Given the description of an element on the screen output the (x, y) to click on. 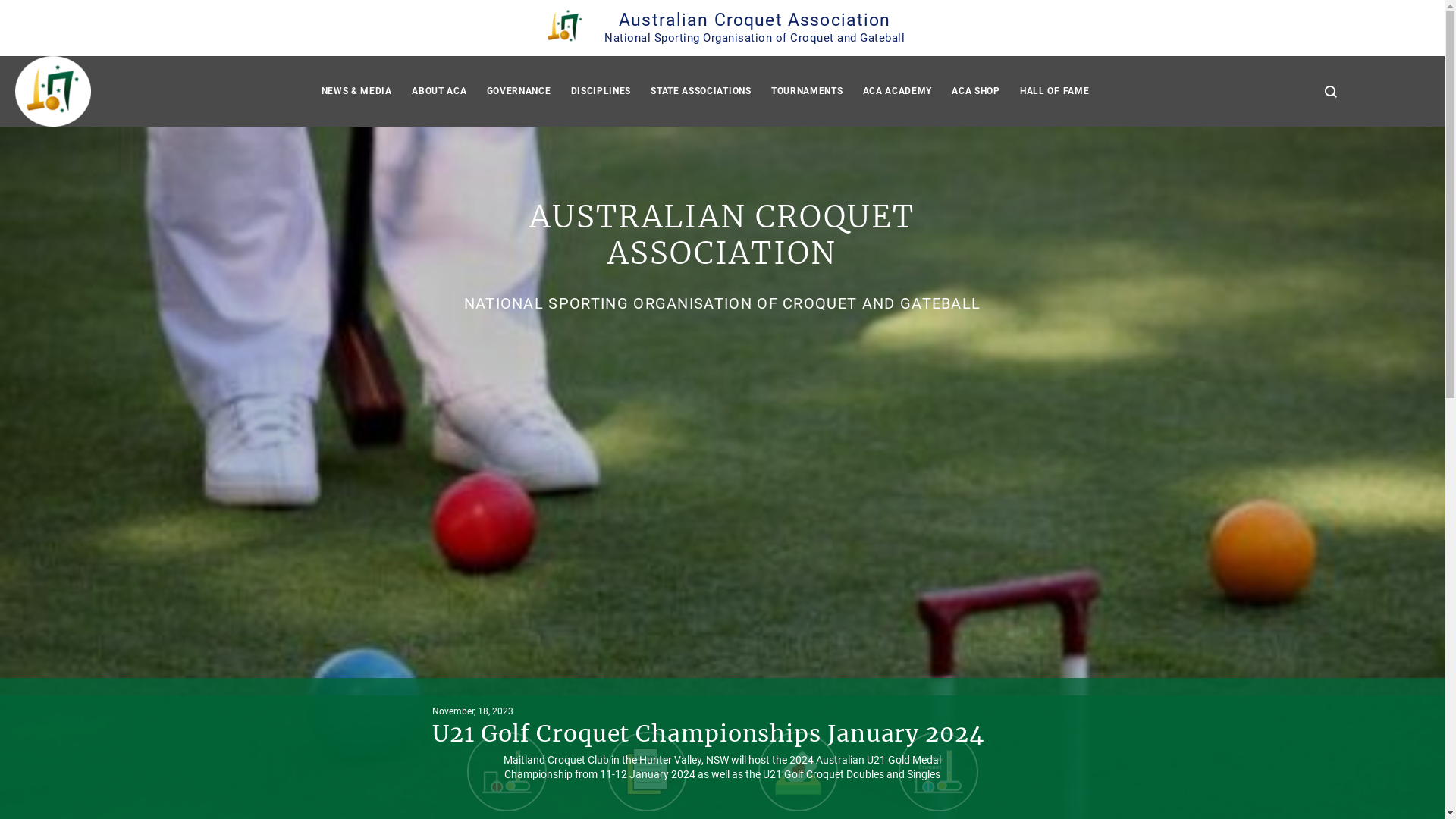
DISCIPLINES Element type: text (601, 91)
Search Element type: hover (1330, 91)
Australian Croquet Association Element type: hover (53, 90)
HALL OF FAME Element type: text (1054, 91)
ACA ACADEMY Element type: text (896, 91)
GOVERNANCE Element type: text (517, 91)
ACA SHOP Element type: text (975, 91)
TOURNAMENTS Element type: text (806, 91)
NEWS & MEDIA Element type: text (356, 91)
ABOUT ACA Element type: text (438, 91)
STATE ASSOCIATIONS Element type: text (700, 91)
